Given the description of an element on the screen output the (x, y) to click on. 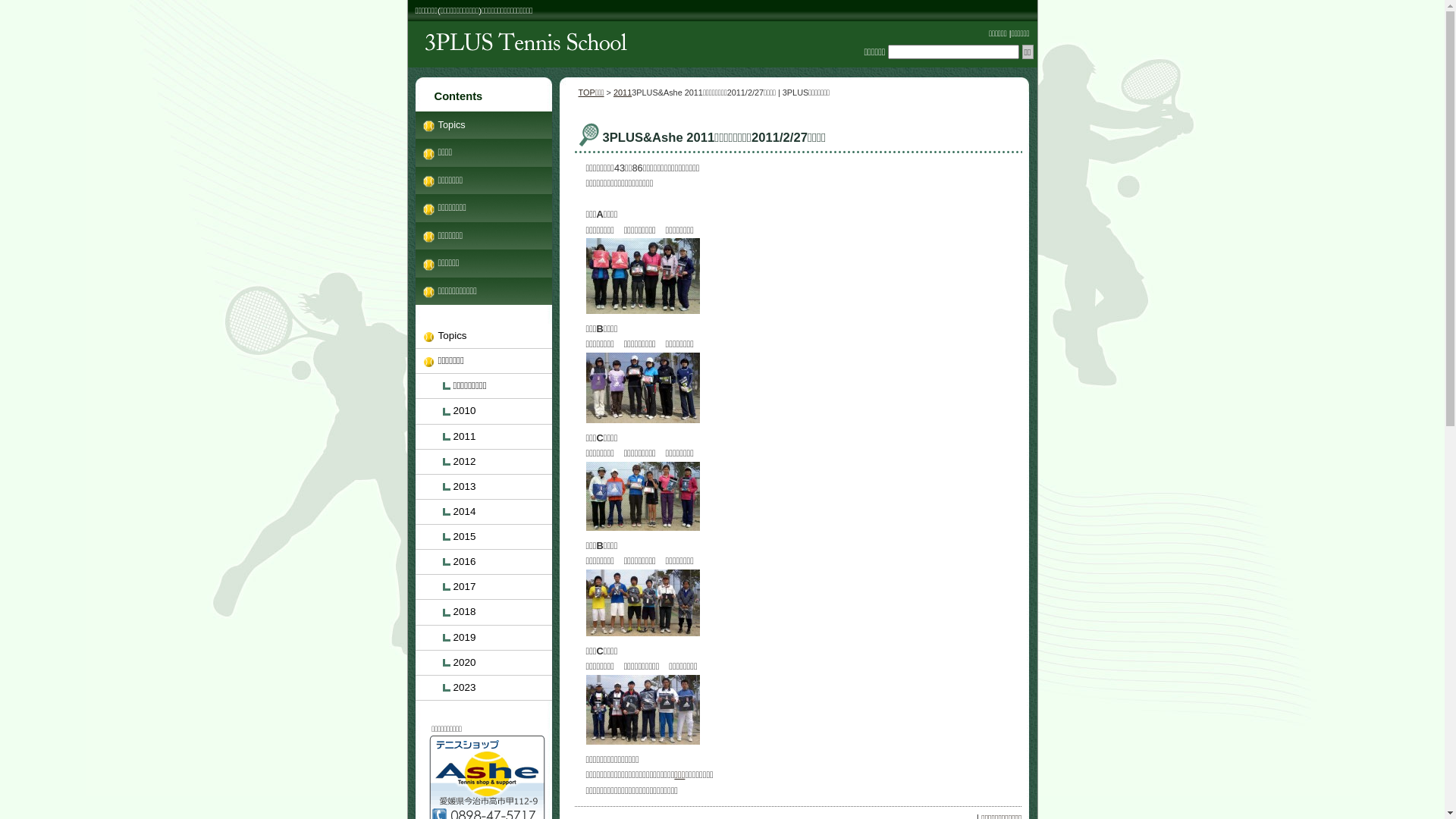
2019 Element type: text (483, 637)
2015 Element type: text (483, 536)
2011 Element type: text (622, 92)
Topics Element type: text (483, 124)
2013 Element type: text (483, 486)
2020 Element type: text (483, 662)
2016 Element type: text (483, 561)
2012 Element type: text (483, 461)
2010 Element type: text (483, 410)
2023 Element type: text (483, 687)
Topics Element type: text (483, 335)
2018 Element type: text (483, 611)
2014 Element type: text (483, 511)
2017 Element type: text (483, 586)
2011 Element type: text (483, 436)
